Given the description of an element on the screen output the (x, y) to click on. 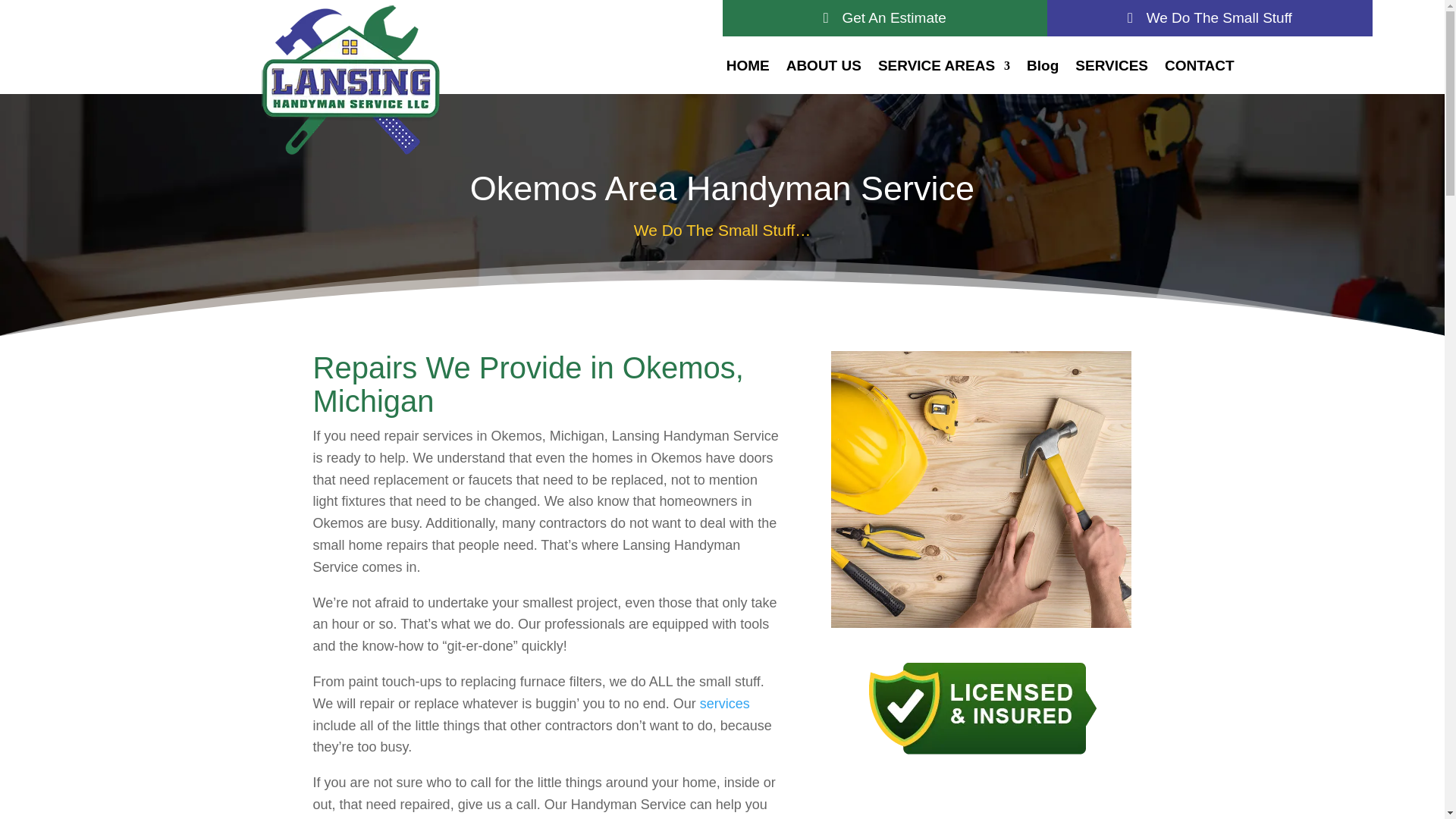
Okemos Handyman Services (981, 489)
Blog (1042, 68)
SERVICES (1111, 68)
SERVICE AREAS (943, 68)
CONTACT (1198, 68)
SERVICE AREAS (943, 68)
HOME (748, 68)
Licensed-and-Insured-handyman-in-lansing (981, 707)
SERVICES (1111, 68)
ABOUT US (823, 68)
HOME (748, 68)
CONTACT (1198, 68)
Get An Estimate (884, 18)
ABOUT US (823, 68)
We Do The Small Stuff (1209, 18)
